Given the description of an element on the screen output the (x, y) to click on. 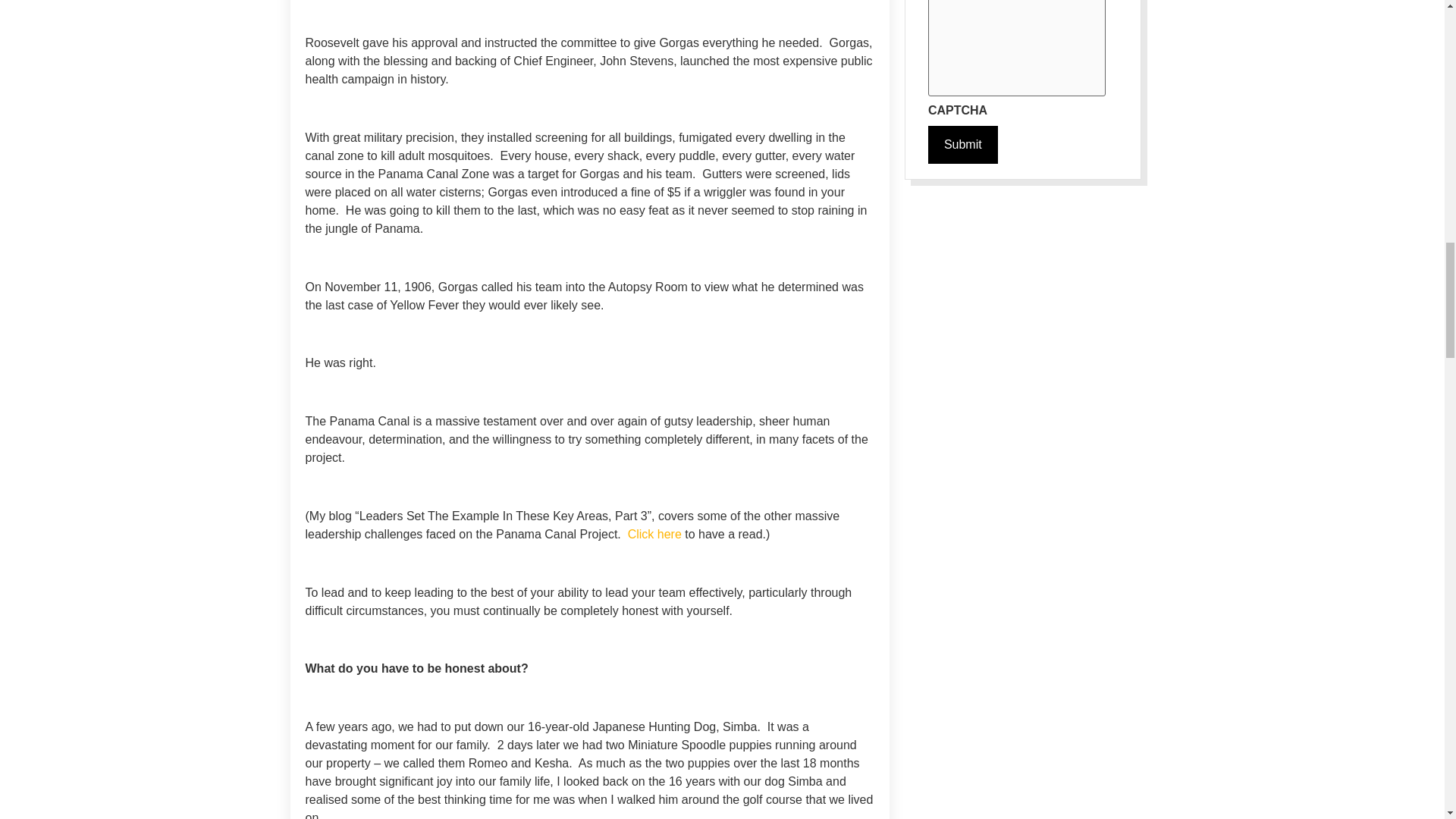
Submit (962, 144)
Click here (654, 533)
